Given the description of an element on the screen output the (x, y) to click on. 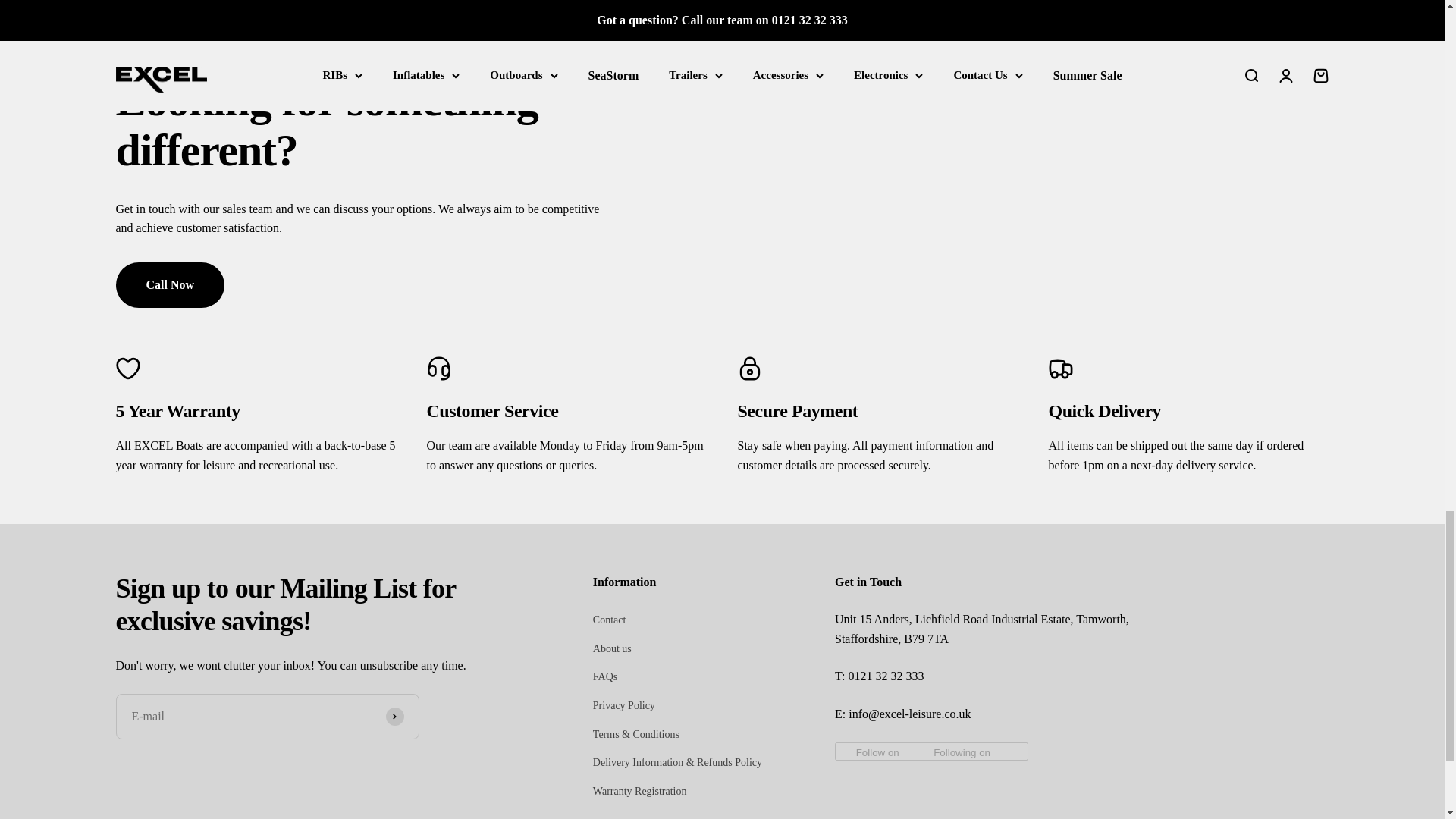
tel:0121 32 32 333 (885, 675)
